Given the description of an element on the screen output the (x, y) to click on. 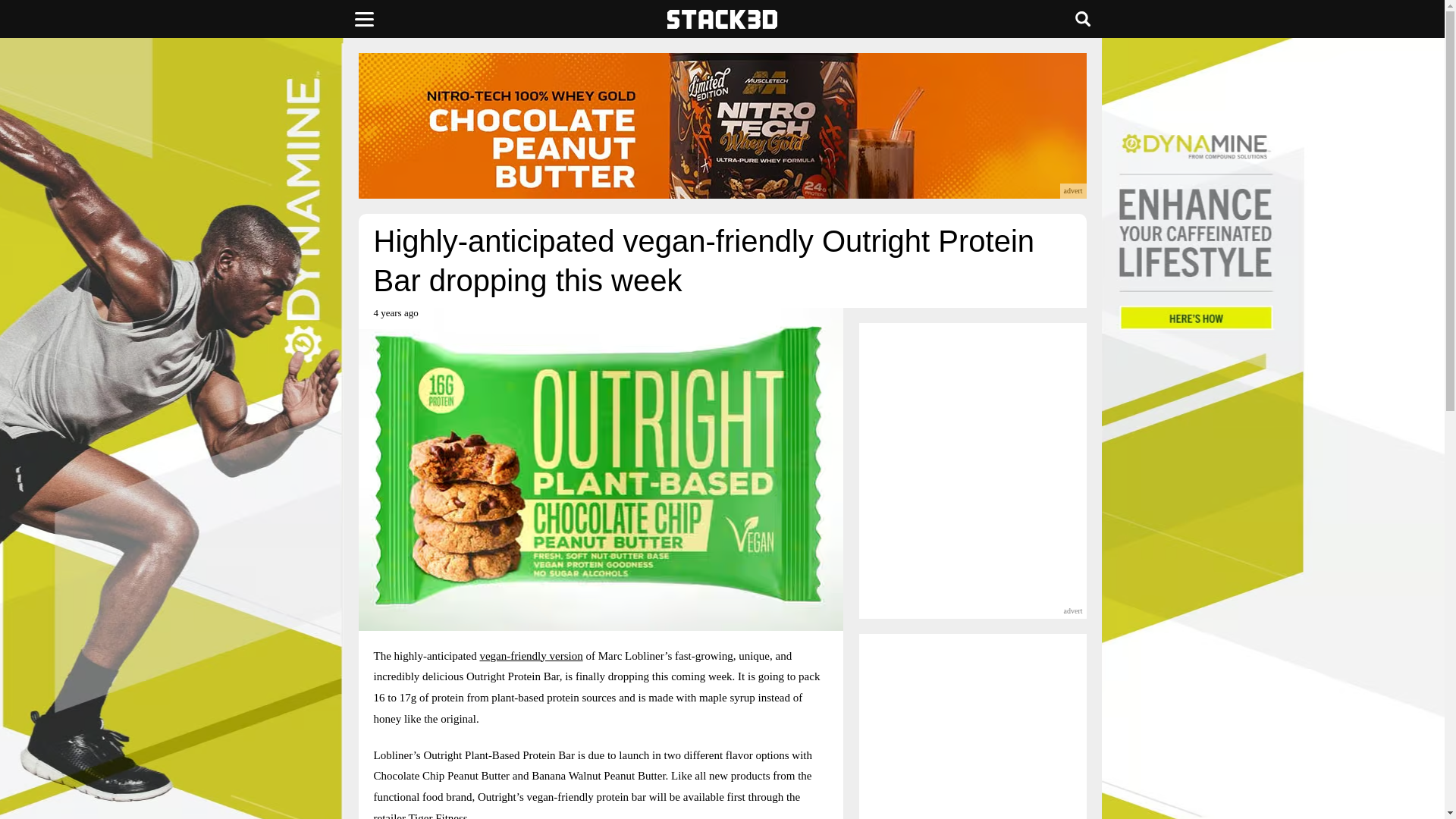
Tiger Fitness (437, 815)
vegan-friendly version (530, 655)
November 17th 2019 (395, 318)
